Given the description of an element on the screen output the (x, y) to click on. 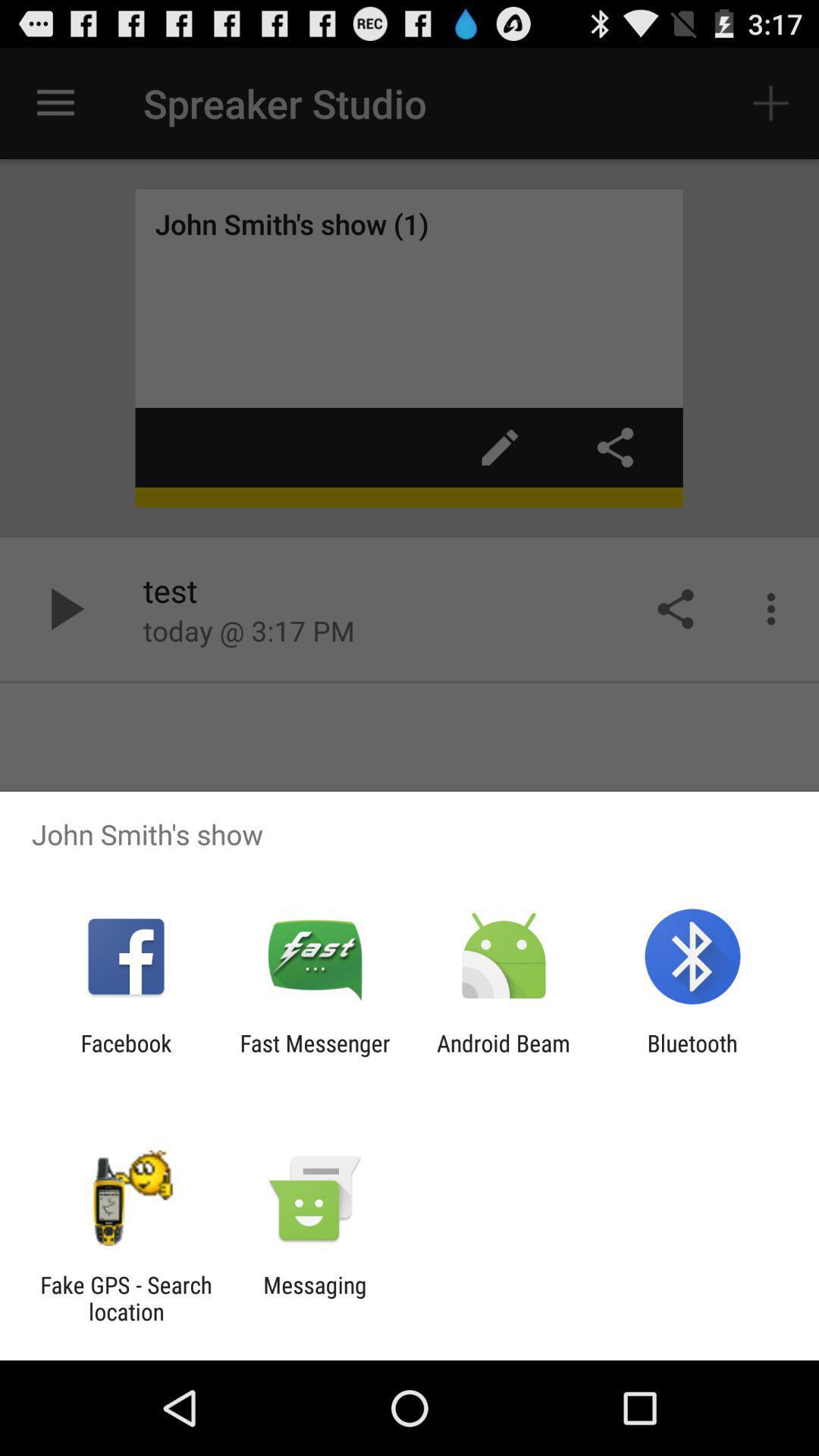
scroll until bluetooth (692, 1056)
